Given the description of an element on the screen output the (x, y) to click on. 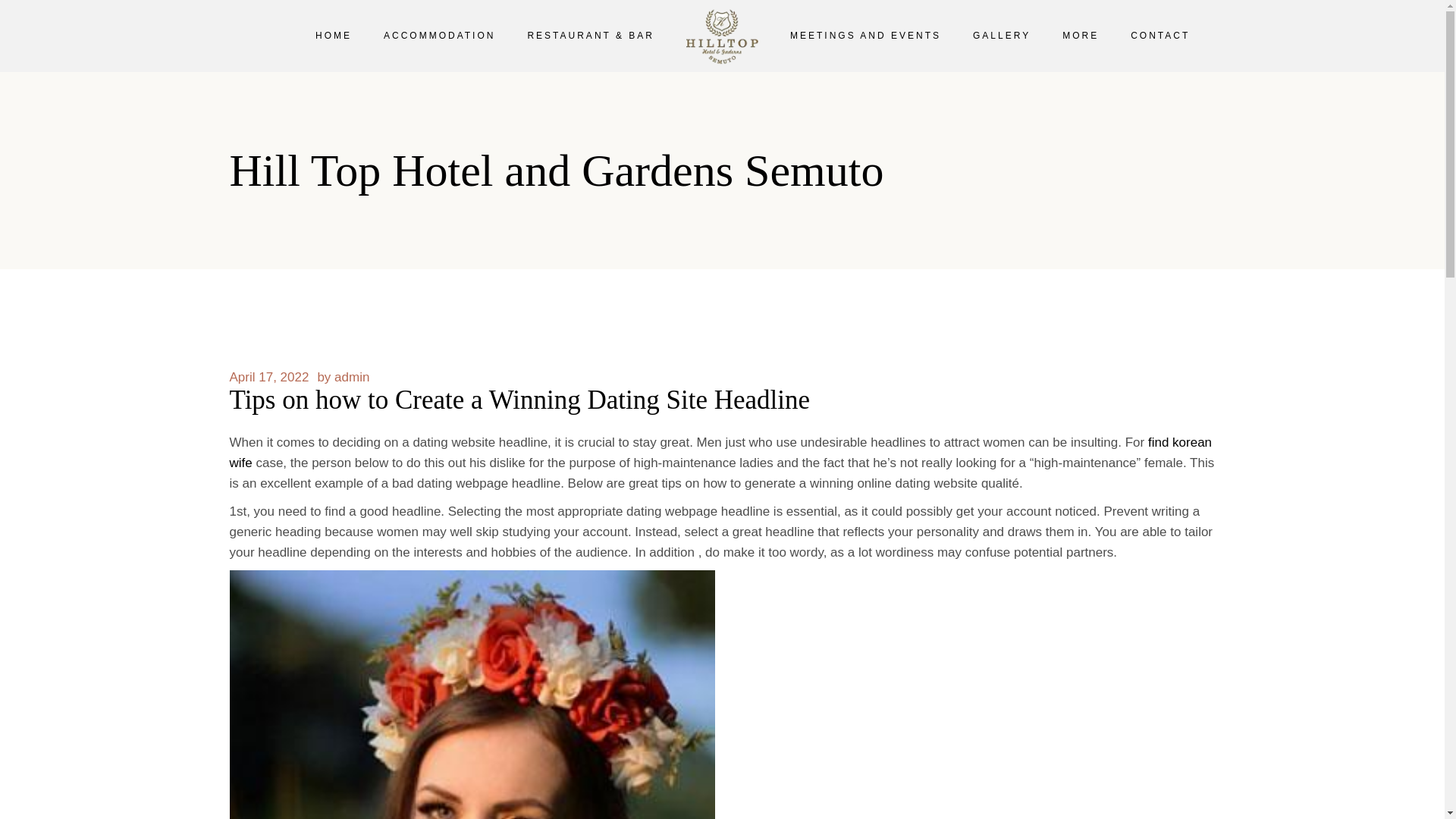
April 17, 2022 (268, 377)
MEETINGS AND EVENTS (865, 36)
find korean wife (719, 452)
admin (351, 377)
ACCOMMODATION (439, 36)
